Given the description of an element on the screen output the (x, y) to click on. 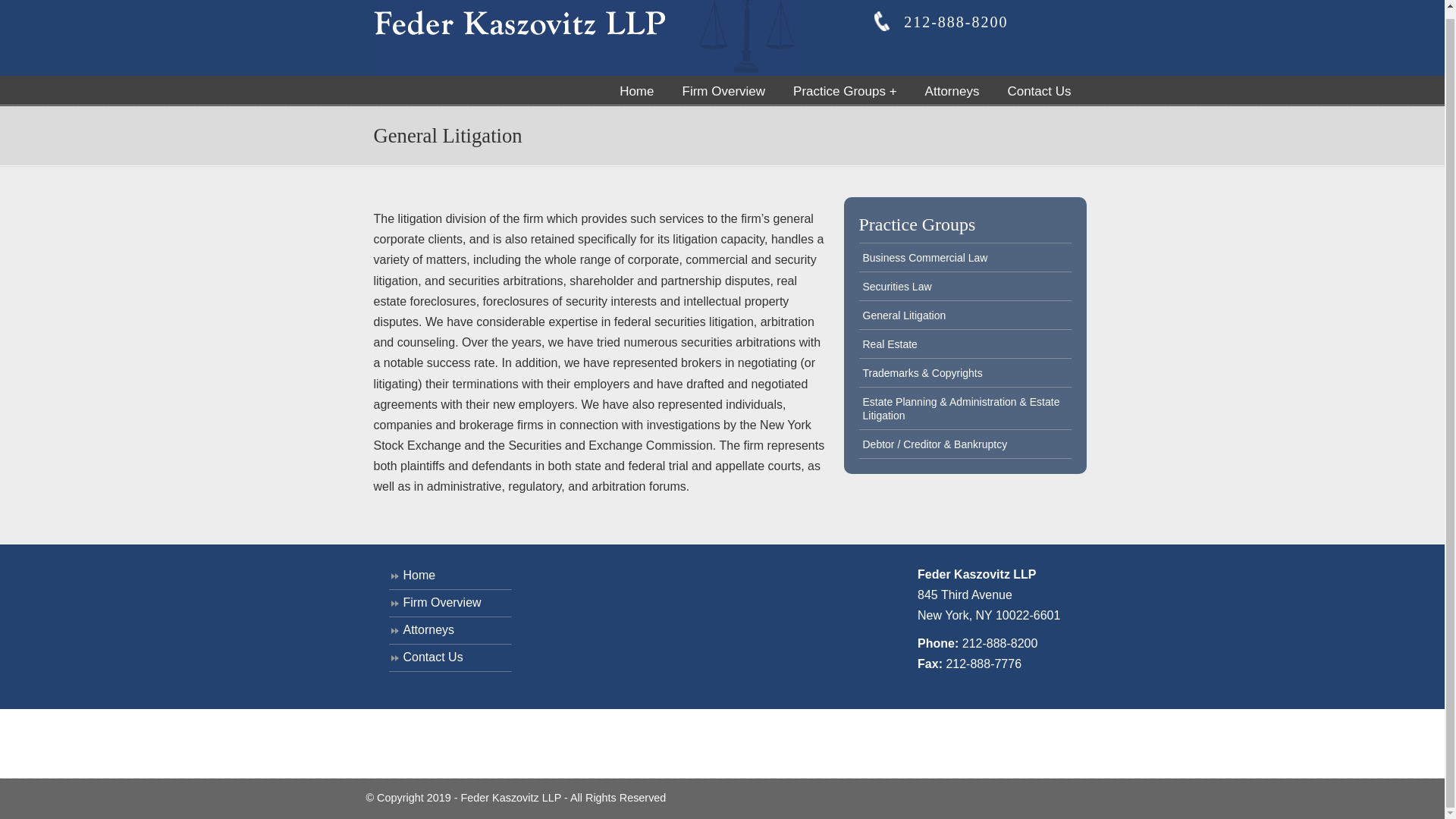
Feder Kaszovitz, LLP (584, 38)
Attorneys (449, 630)
212-888-8200 (1000, 643)
Home (636, 91)
Real Estate (964, 344)
Firm Overview (723, 91)
Firm Overview (449, 603)
Securities Law (964, 286)
Feder Kaszovitz, LLP (584, 38)
Home (449, 575)
